Given the description of an element on the screen output the (x, y) to click on. 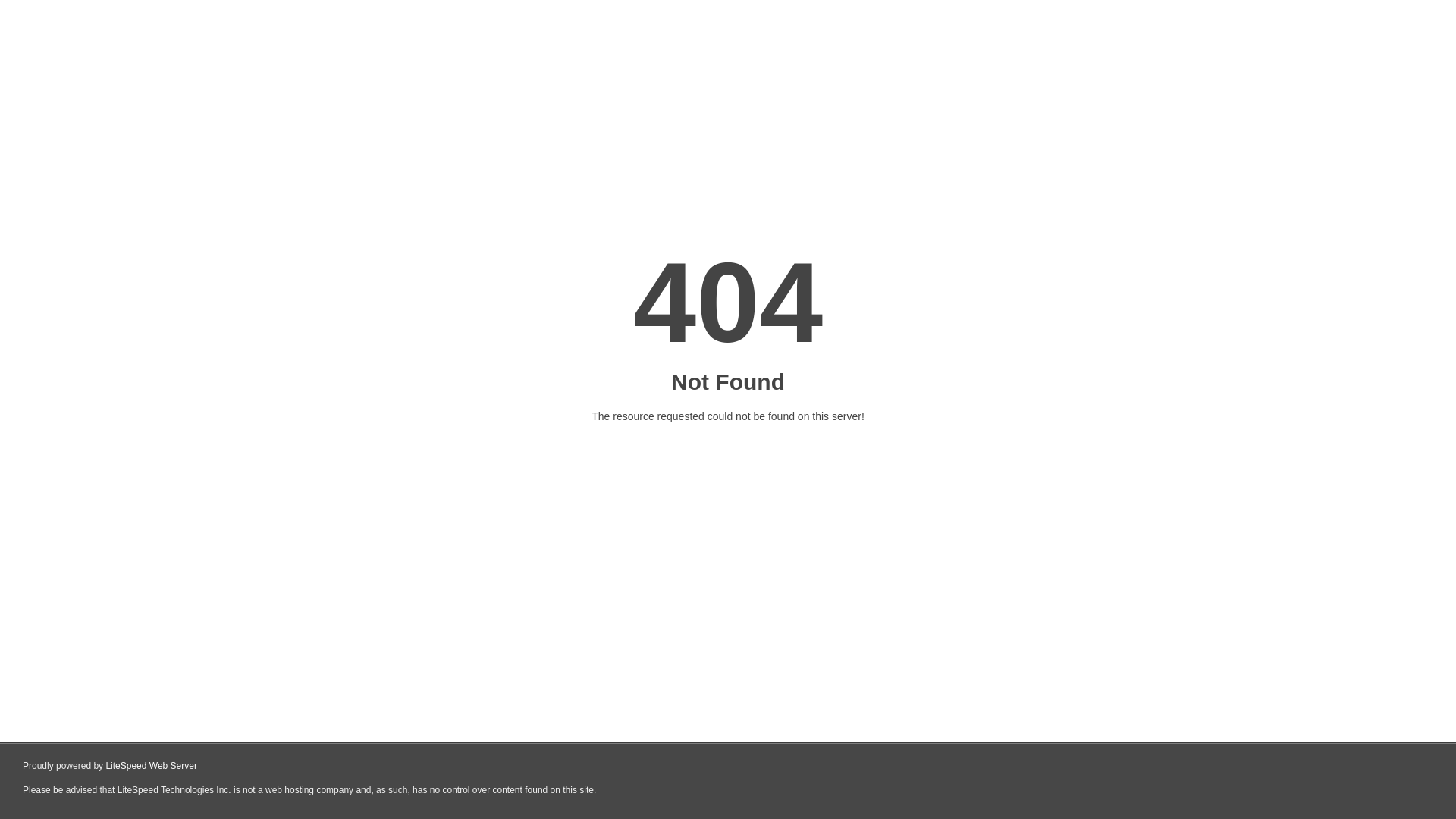
LiteSpeed Web Server Element type: text (151, 765)
